Given the description of an element on the screen output the (x, y) to click on. 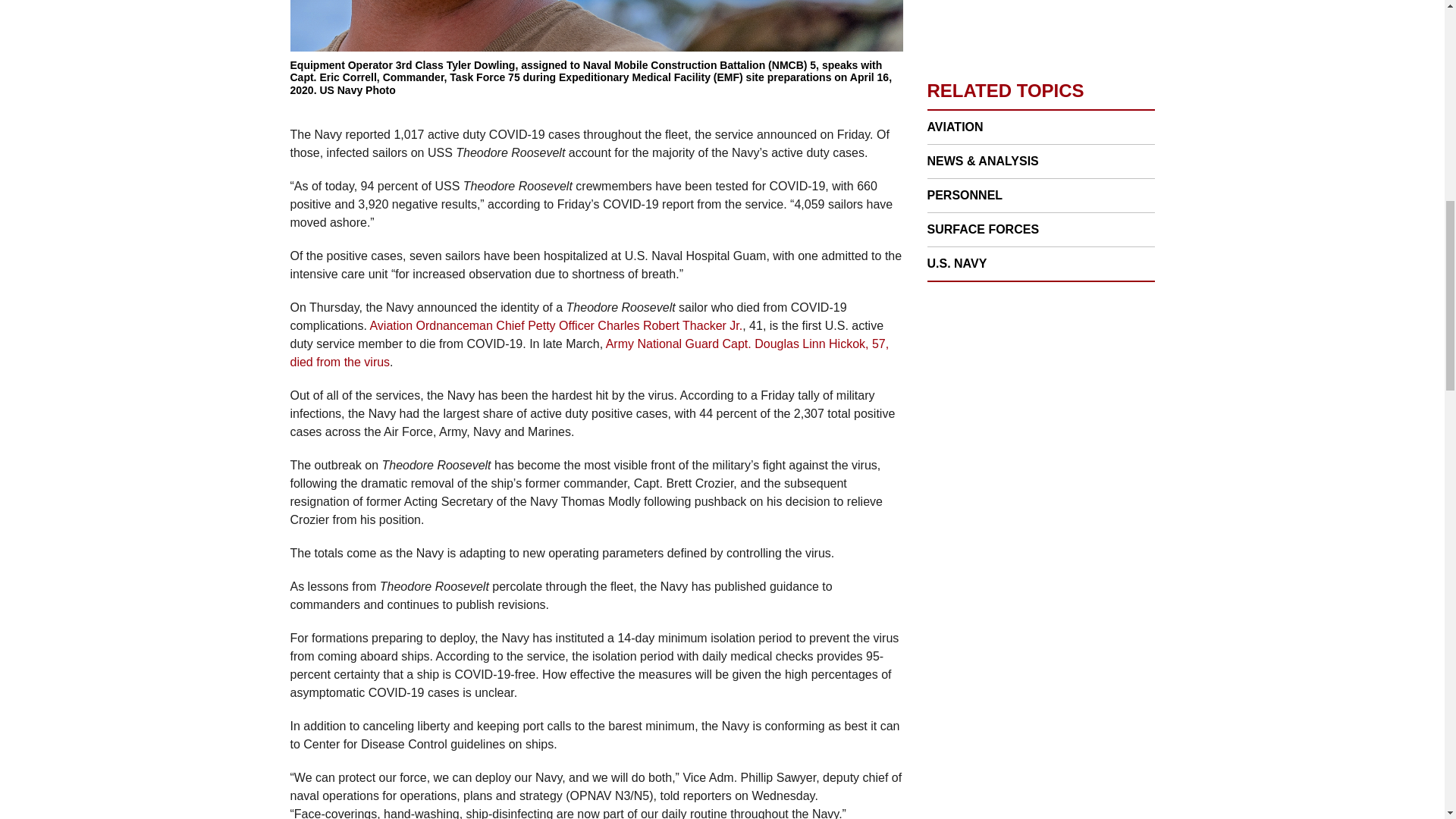
3rd party ad content (1040, 626)
3rd party ad content (1040, 24)
3rd party ad content (1040, 407)
